Given the description of an element on the screen output the (x, y) to click on. 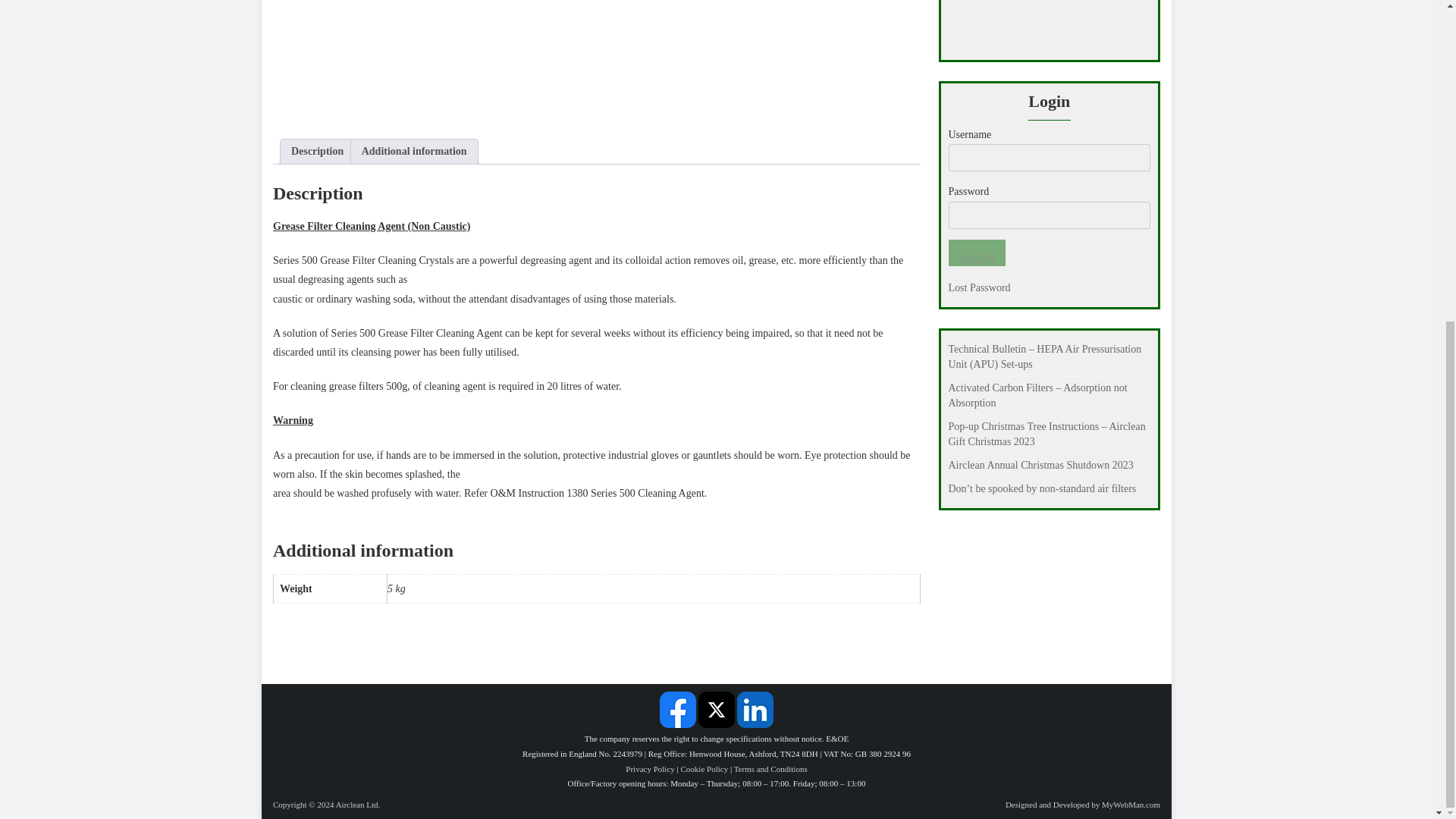
Log In (975, 252)
